Given the description of an element on the screen output the (x, y) to click on. 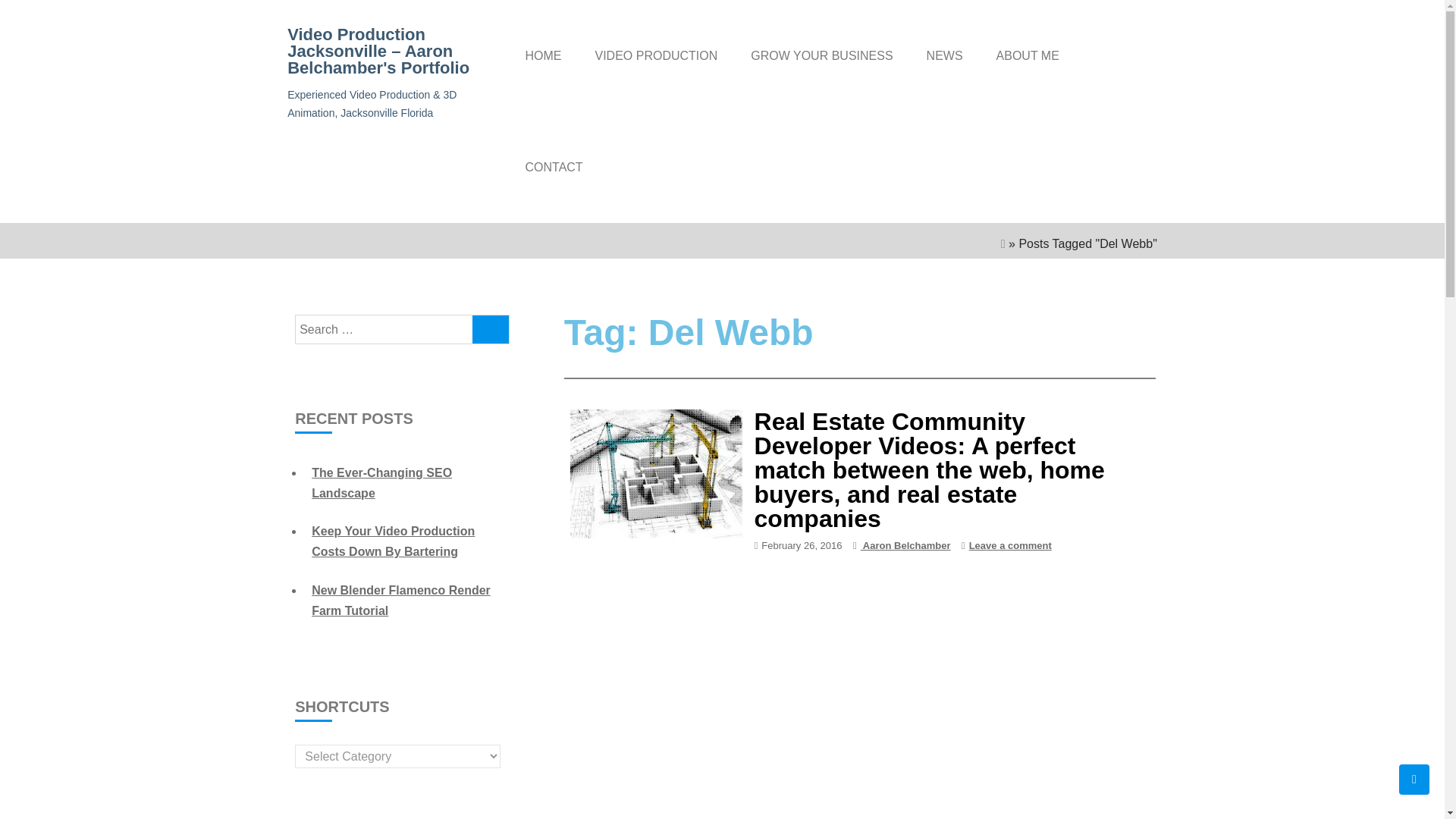
The Ever-Changing SEO Landscape (381, 482)
Search (1132, 52)
Search (489, 329)
Aaron Belchamber (901, 545)
Keep Your Video Production Costs Down By Bartering (392, 540)
Search (1132, 52)
New Blender Flamenco Render Farm Tutorial (400, 600)
Leave a comment (1010, 545)
Search (1132, 52)
Video Production of Jacksonville, Florida (655, 55)
